Given the description of an element on the screen output the (x, y) to click on. 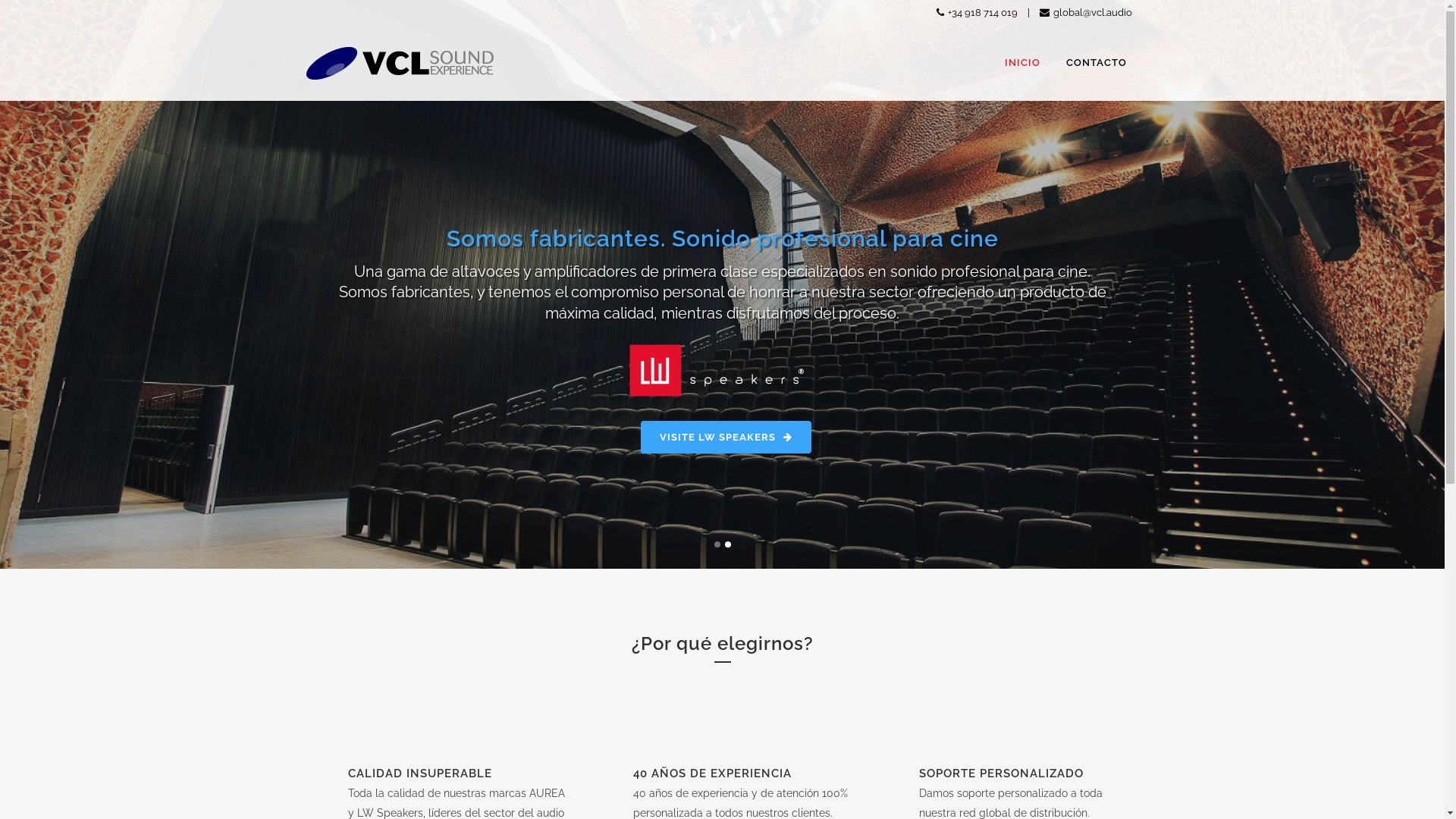
VISITE AUREA HOME CINEMA Element type: text (725, 427)
+34 918 714 019 Element type: text (975, 12)
INICIO Element type: text (1022, 62)
CONTACTO Element type: text (1095, 62)
global@vcl.audio Element type: text (1084, 12)
